Given the description of an element on the screen output the (x, y) to click on. 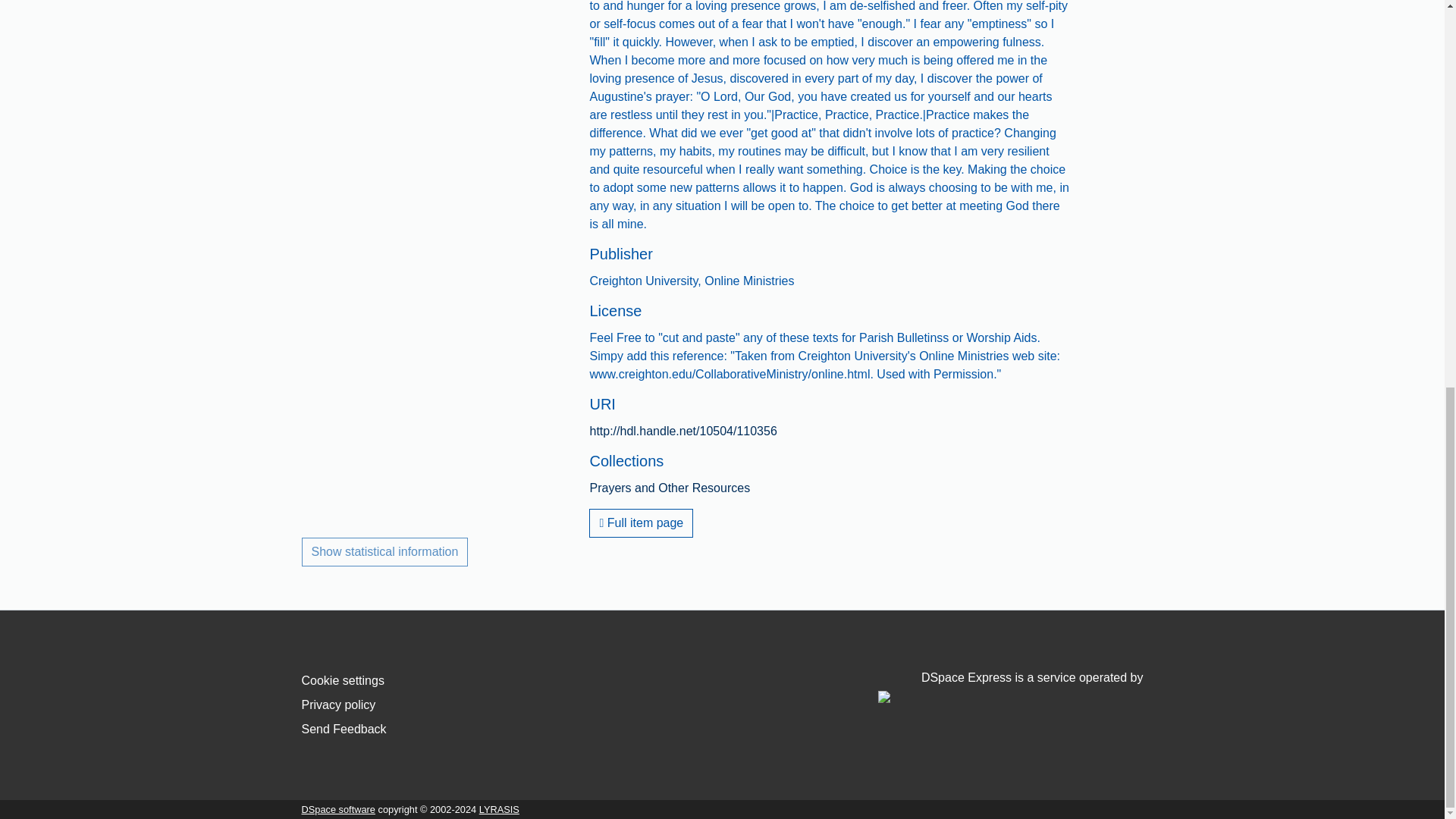
Cookie settings (342, 680)
Prayers and Other Resources (669, 487)
Privacy policy (338, 704)
DSpace software (338, 808)
Send Feedback (344, 728)
Full item page (641, 522)
Show statistical information (384, 551)
DSpace Express is a service operated by (1009, 686)
LYRASIS (499, 808)
